Given the description of an element on the screen output the (x, y) to click on. 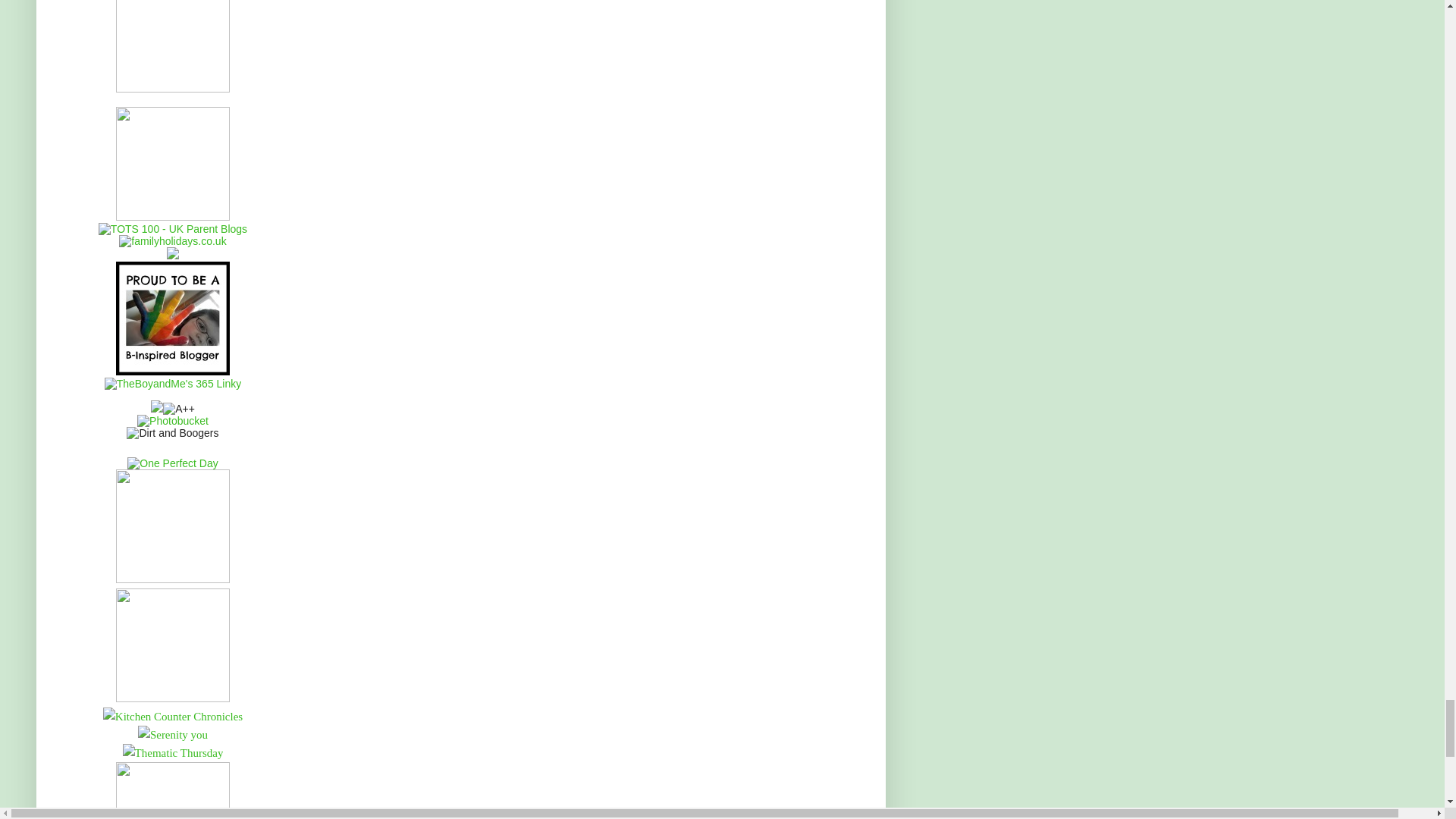
TOTS 100 - UK Parent Blogs (173, 228)
familyholidays.co.uk (172, 241)
